Given the description of an element on the screen output the (x, y) to click on. 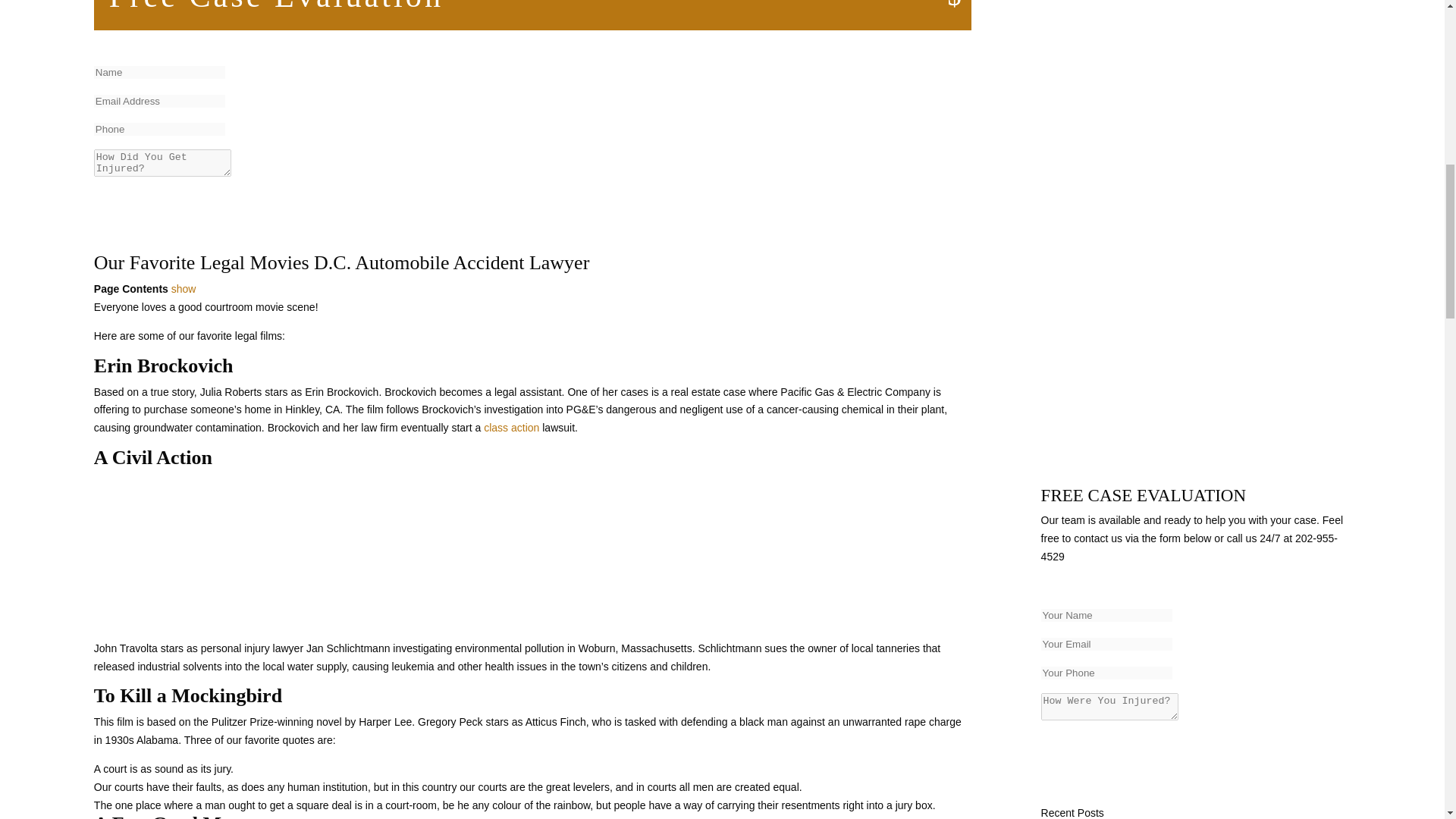
show (183, 288)
Only numbers allowed. (159, 128)
Only numbers allowed. (1106, 672)
Submit (134, 201)
Only letters allowed. (1106, 615)
